Given the description of an element on the screen output the (x, y) to click on. 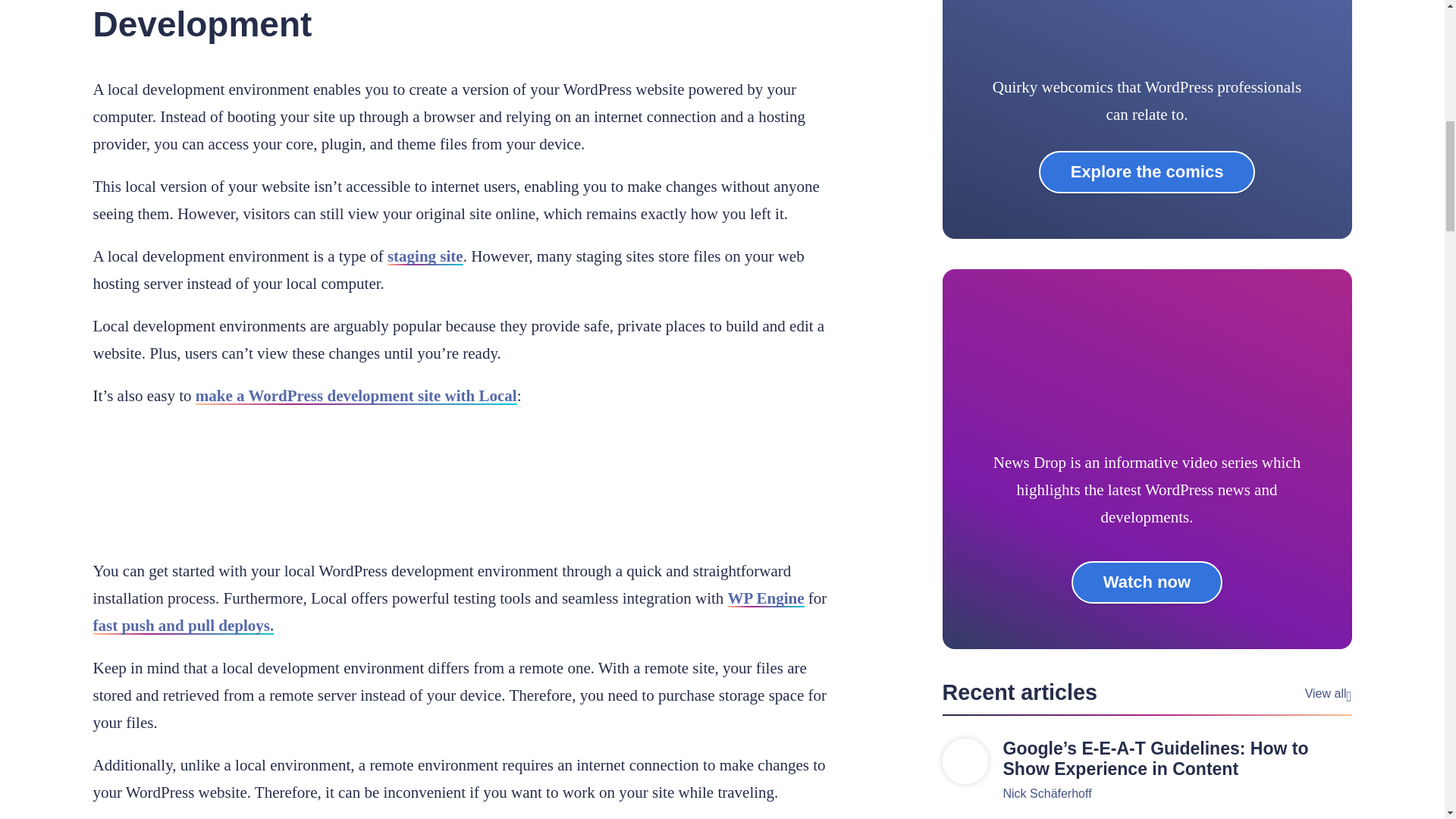
WP Engine (766, 597)
fast push and pull deploys. (183, 625)
staging site (425, 256)
make a WordPress development site with Local (355, 395)
